Given the description of an element on the screen output the (x, y) to click on. 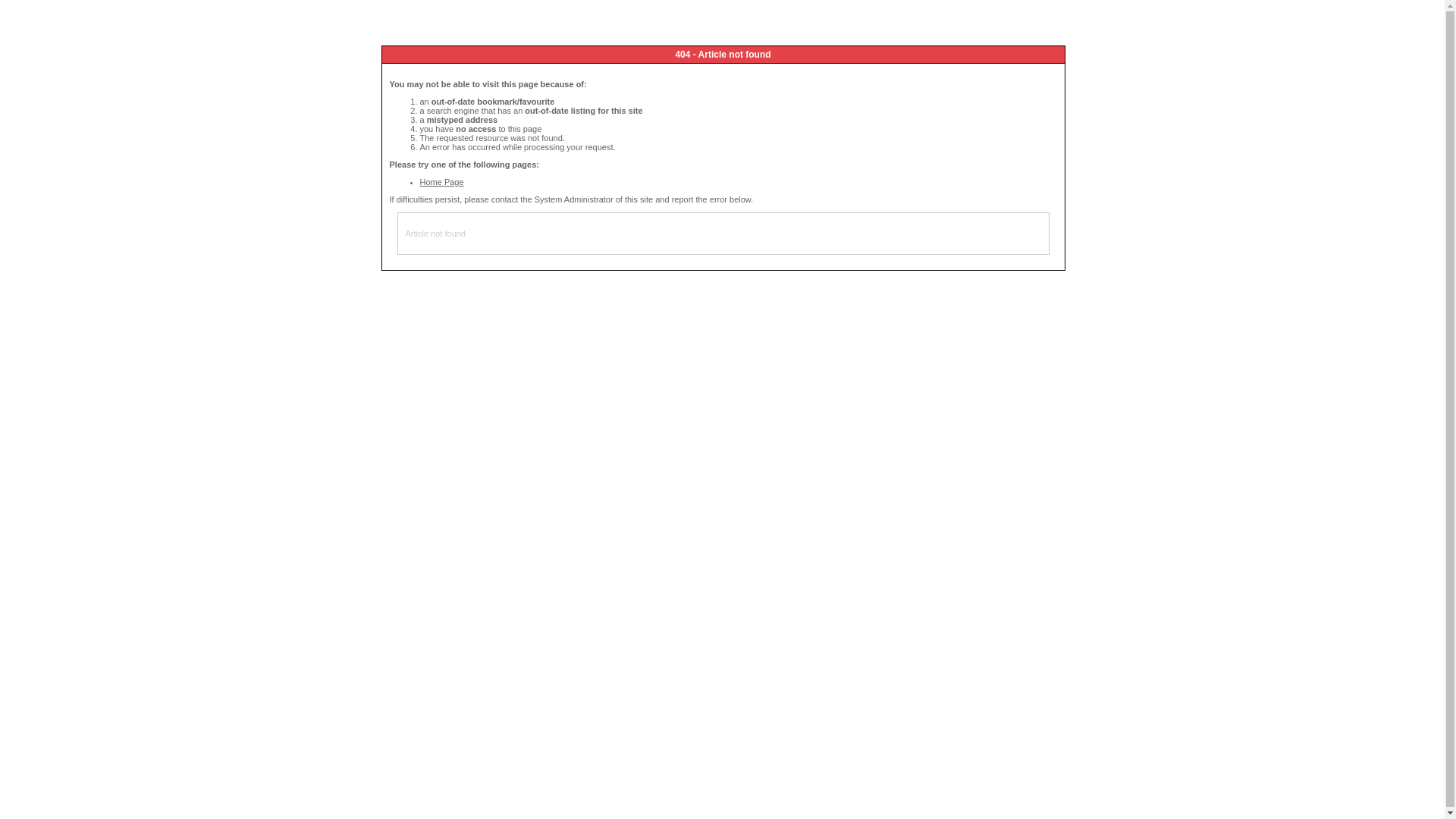
Home Page Element type: text (442, 181)
